Given the description of an element on the screen output the (x, y) to click on. 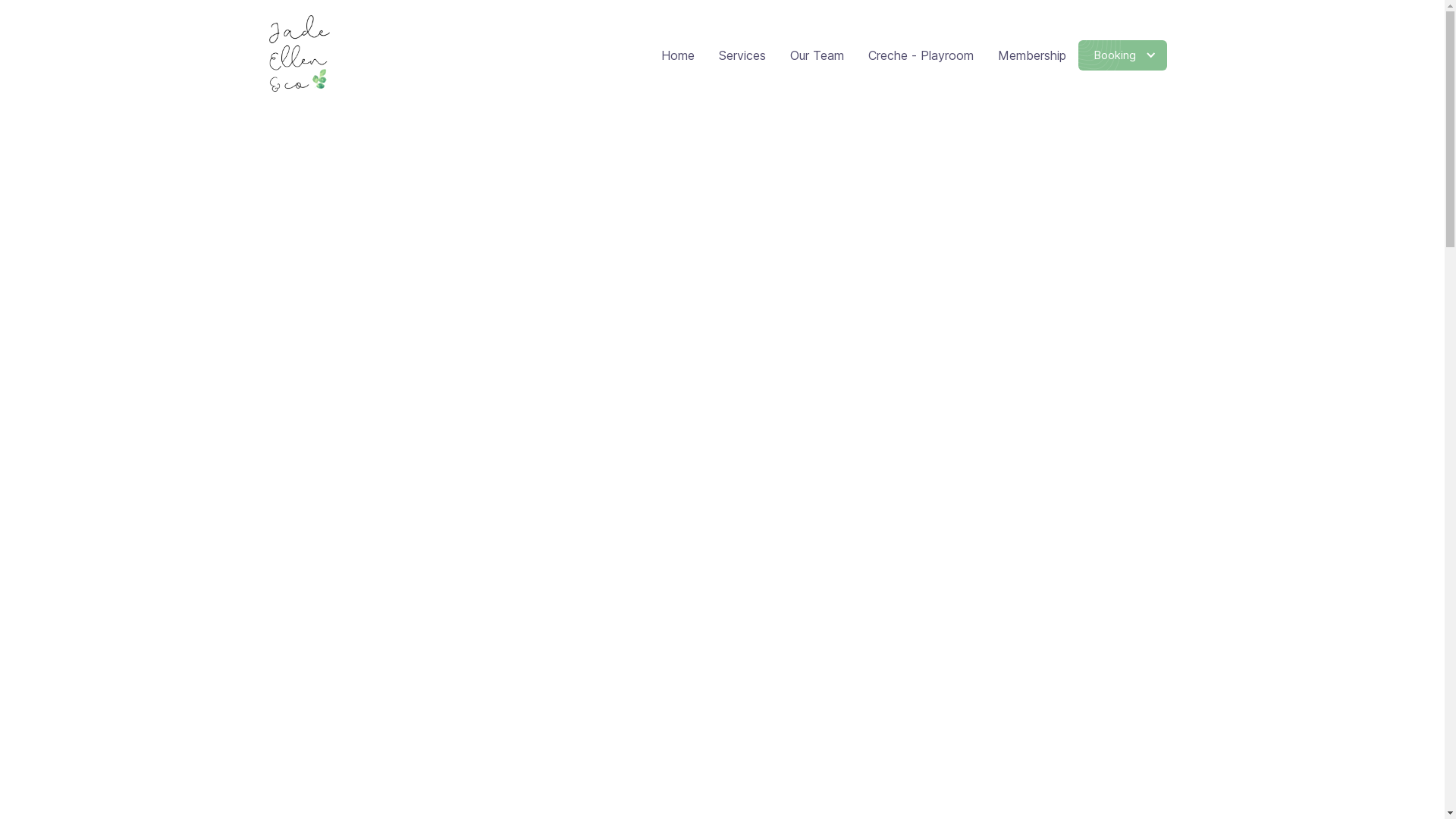
Membership Element type: text (1031, 55)
Our Team Element type: text (817, 55)
Services Element type: text (742, 55)
Creche - Playroom Element type: text (920, 55)
Home Element type: text (677, 55)
